Given the description of an element on the screen output the (x, y) to click on. 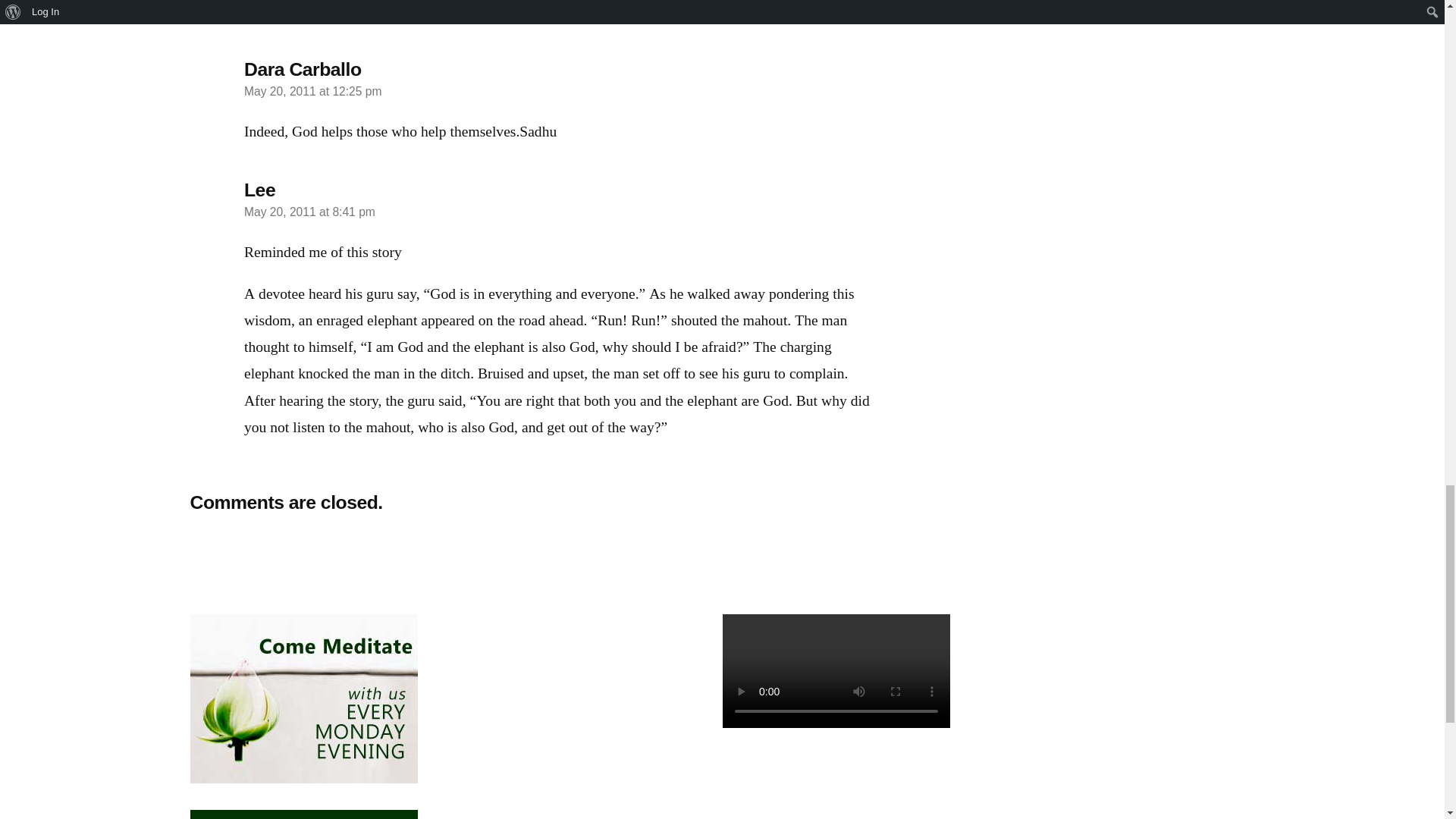
May 20, 2011 at 8:41 pm (309, 211)
May 20, 2011 at 12:25 pm (312, 91)
